Given the description of an element on the screen output the (x, y) to click on. 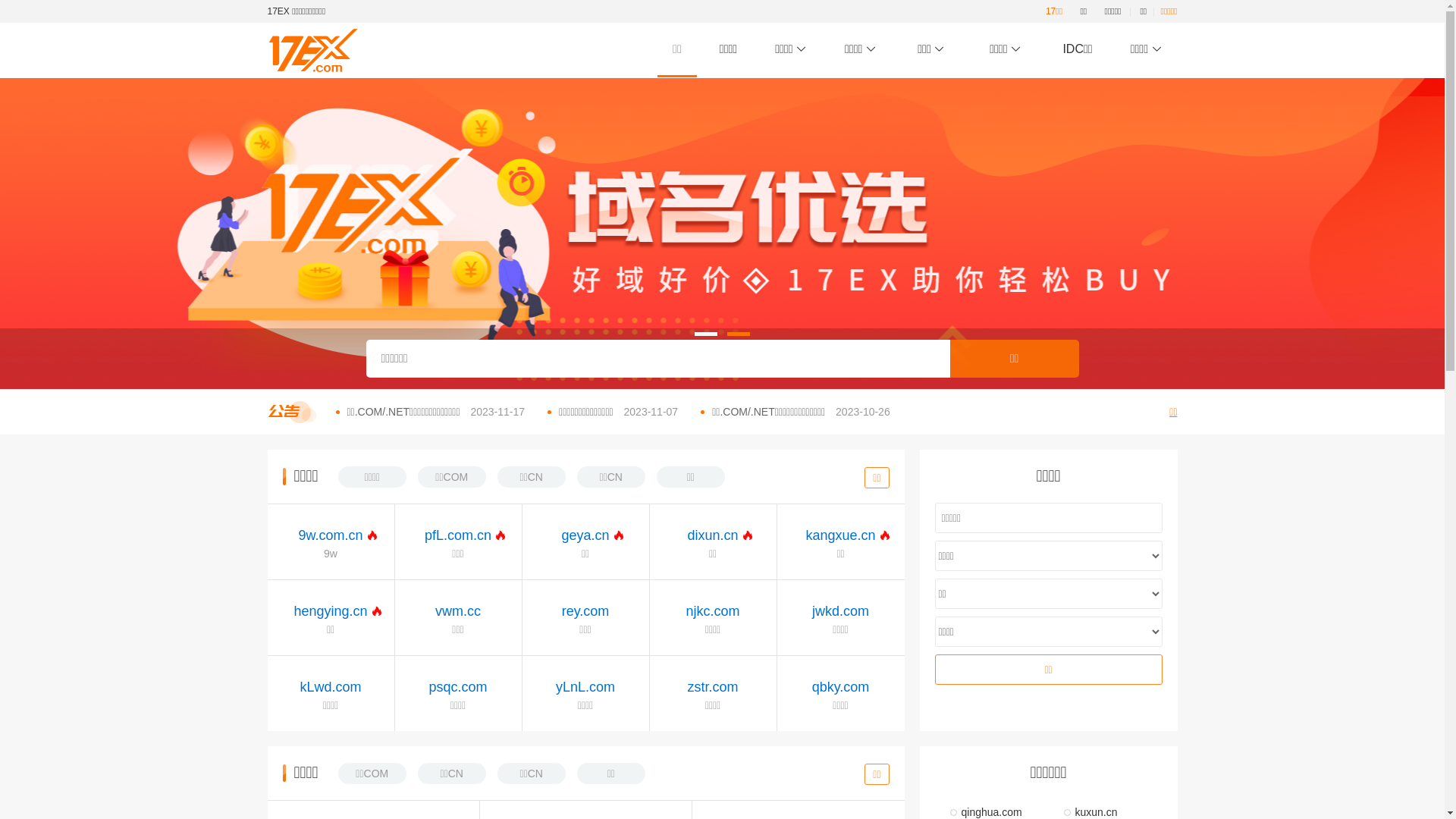
9w.com.cn
9w Element type: text (330, 542)
